Given the description of an element on the screen output the (x, y) to click on. 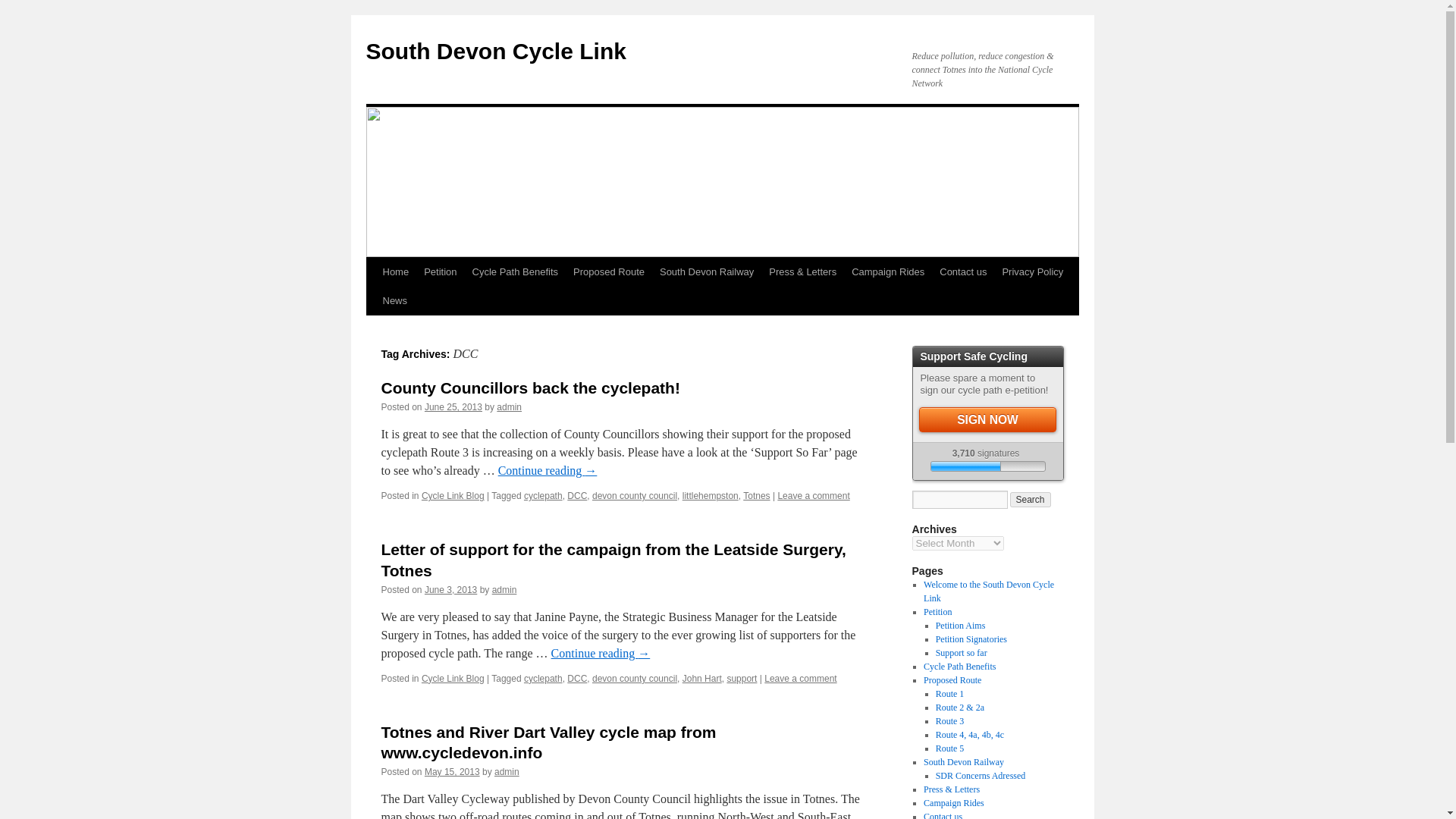
Proposed Route (609, 271)
News (394, 300)
cyclepath (543, 495)
Petition (440, 271)
littlehempston (710, 495)
Home (395, 271)
View all posts by admin (508, 407)
Search (1030, 499)
South Devon Cycle Link (495, 50)
12:17 pm (451, 589)
